Given the description of an element on the screen output the (x, y) to click on. 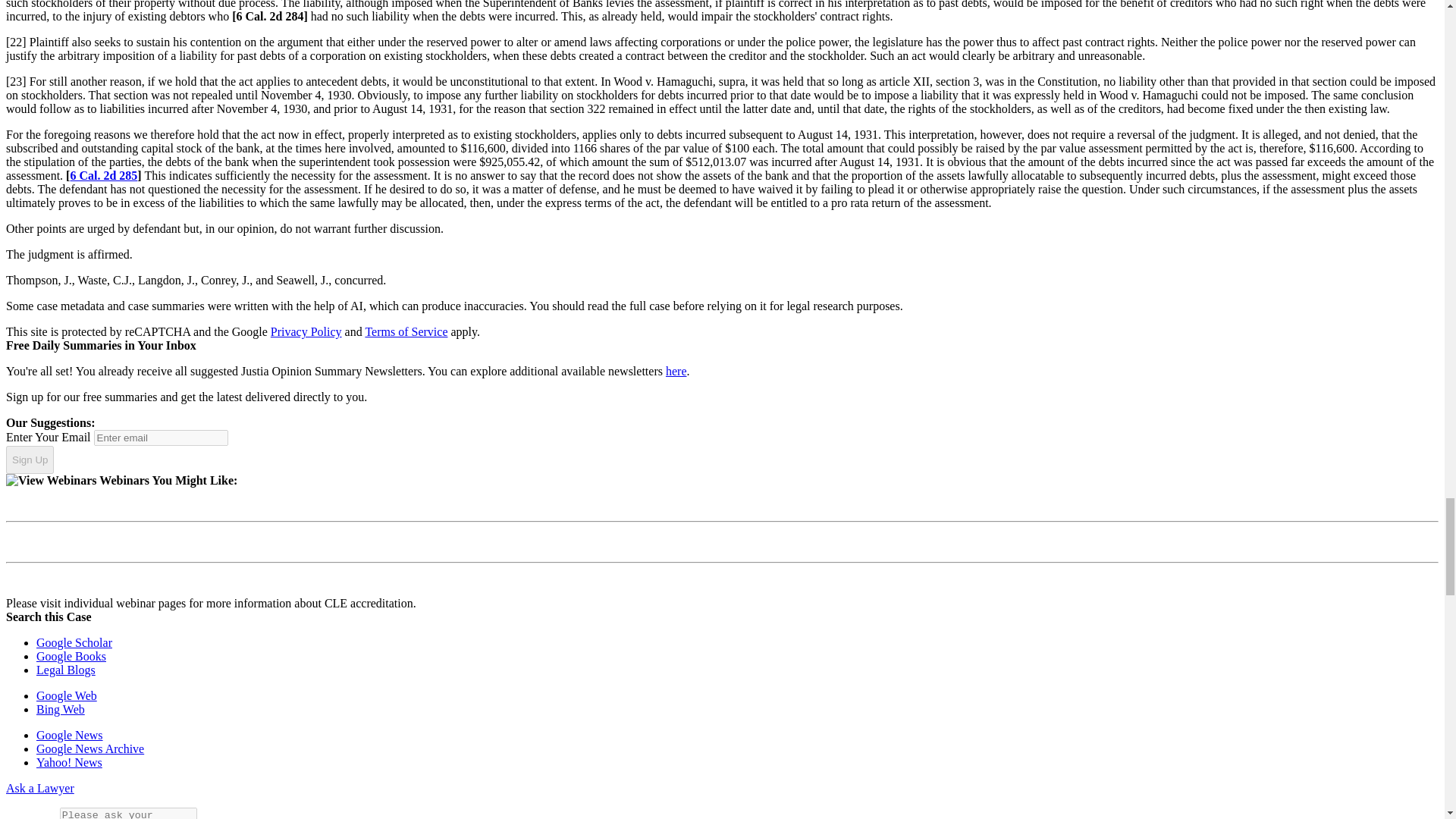
Law - Google Web (66, 695)
Law - Google Books (71, 656)
Sign Up (29, 460)
Law - Google Scholar (74, 642)
Enter email (161, 437)
Law - Google News Archive (90, 748)
Law - Google News (69, 735)
Law - Bing Web (60, 708)
Law - Yahoo! News (68, 762)
Law - Legal Blogs (66, 669)
